Given the description of an element on the screen output the (x, y) to click on. 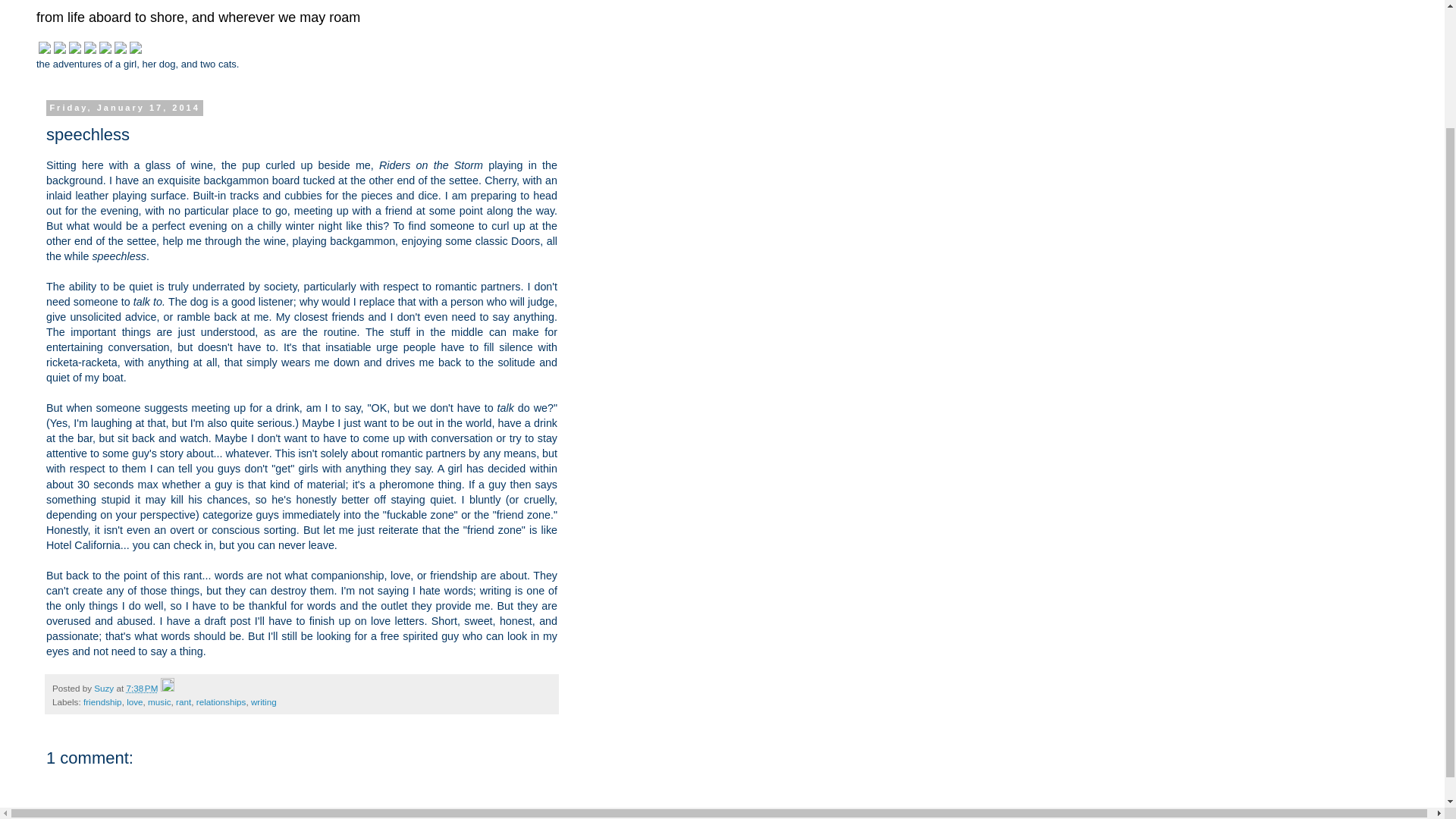
love (134, 701)
relationships (221, 701)
Suzy (105, 687)
permanent link (141, 687)
writing (263, 701)
author profile (105, 687)
friendship (102, 701)
rant (183, 701)
Edit Post (167, 687)
music (159, 701)
